Given the description of an element on the screen output the (x, y) to click on. 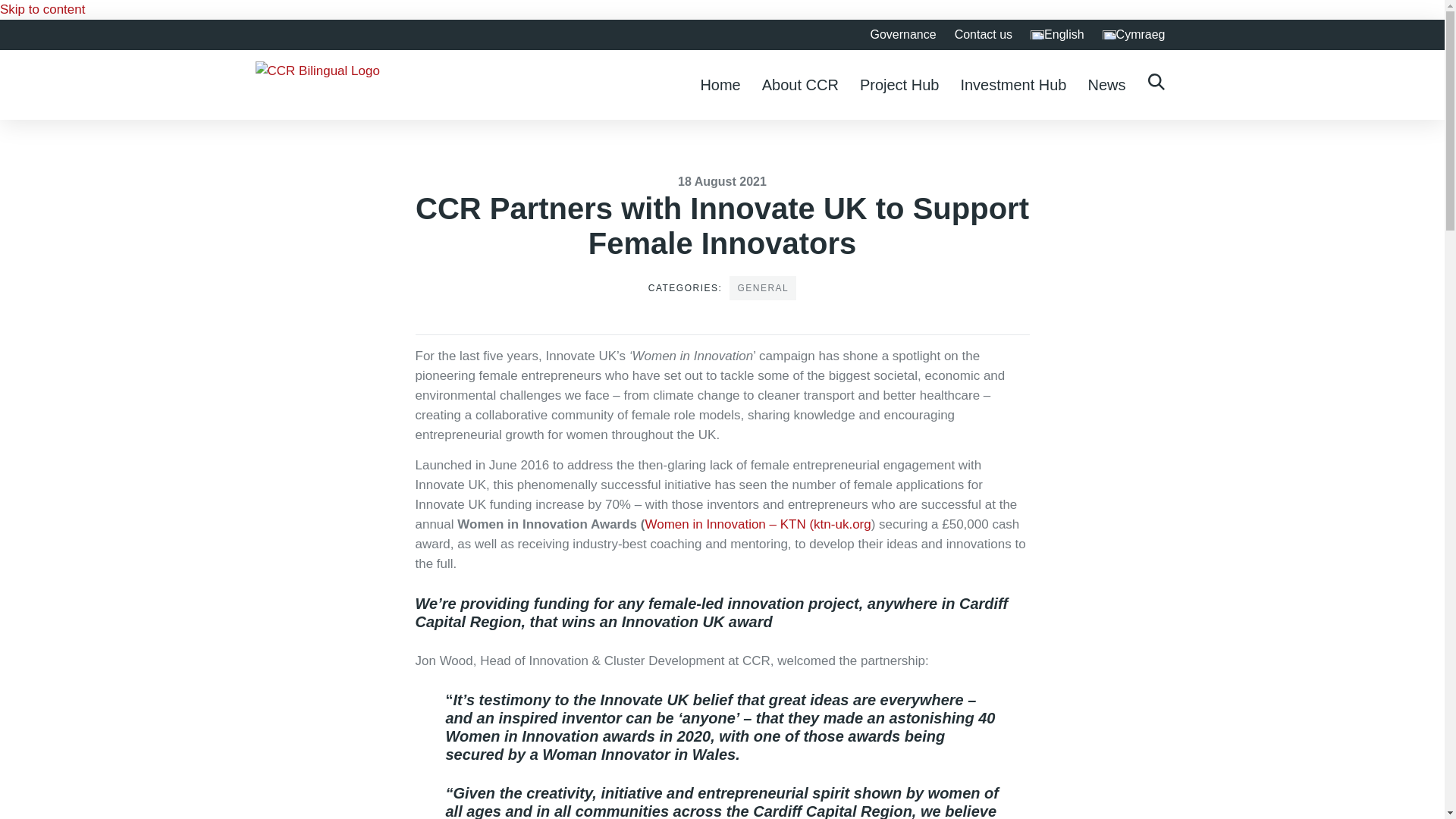
Home (719, 84)
English (1056, 34)
Governance (902, 34)
Contact us (983, 34)
Skip to content (42, 9)
Cymraeg (1134, 34)
English (1056, 34)
Cymraeg (1134, 34)
About CCR (799, 84)
